Given the description of an element on the screen output the (x, y) to click on. 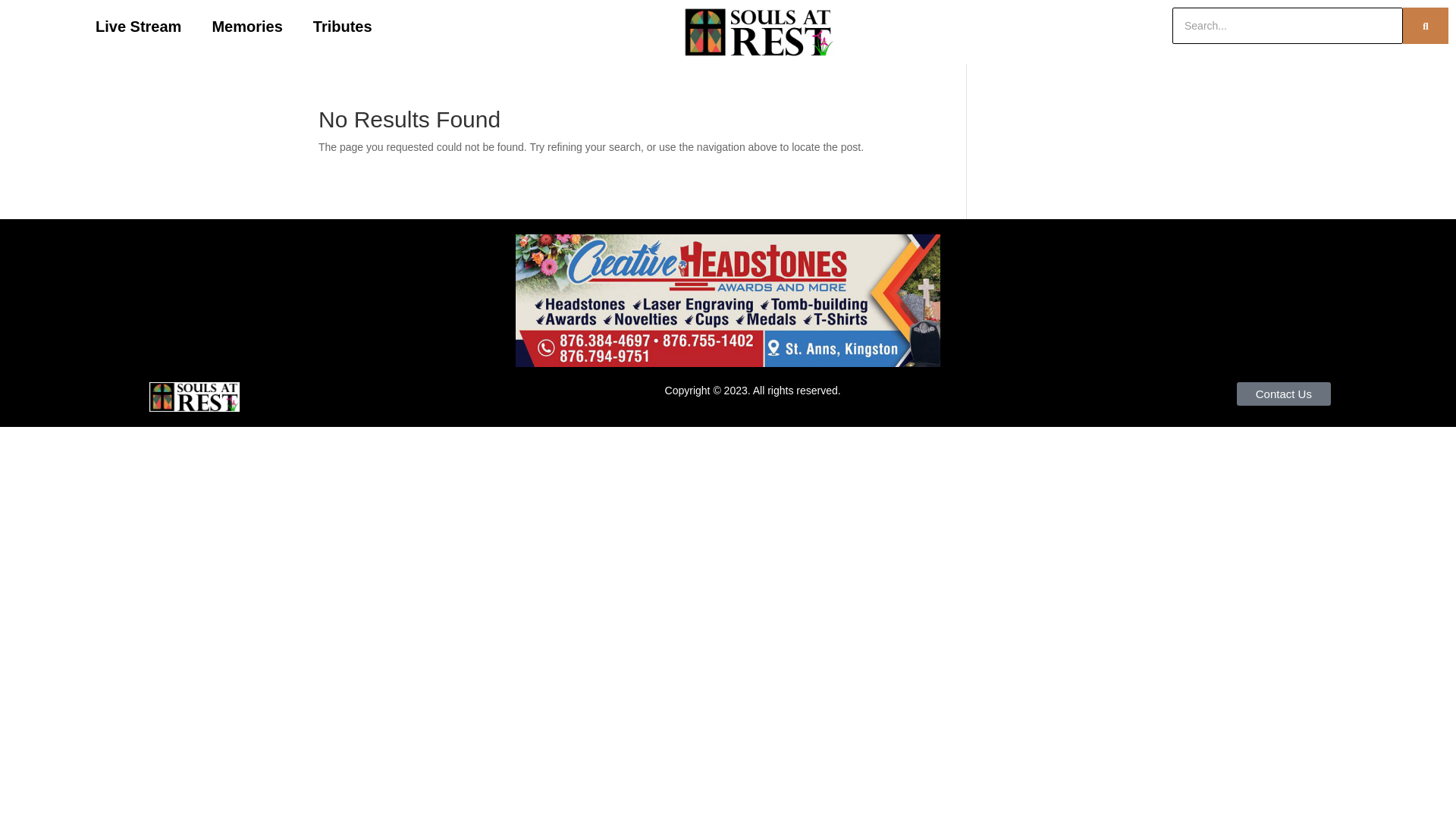
Search (1291, 25)
Contact Us (1283, 393)
